Given the description of an element on the screen output the (x, y) to click on. 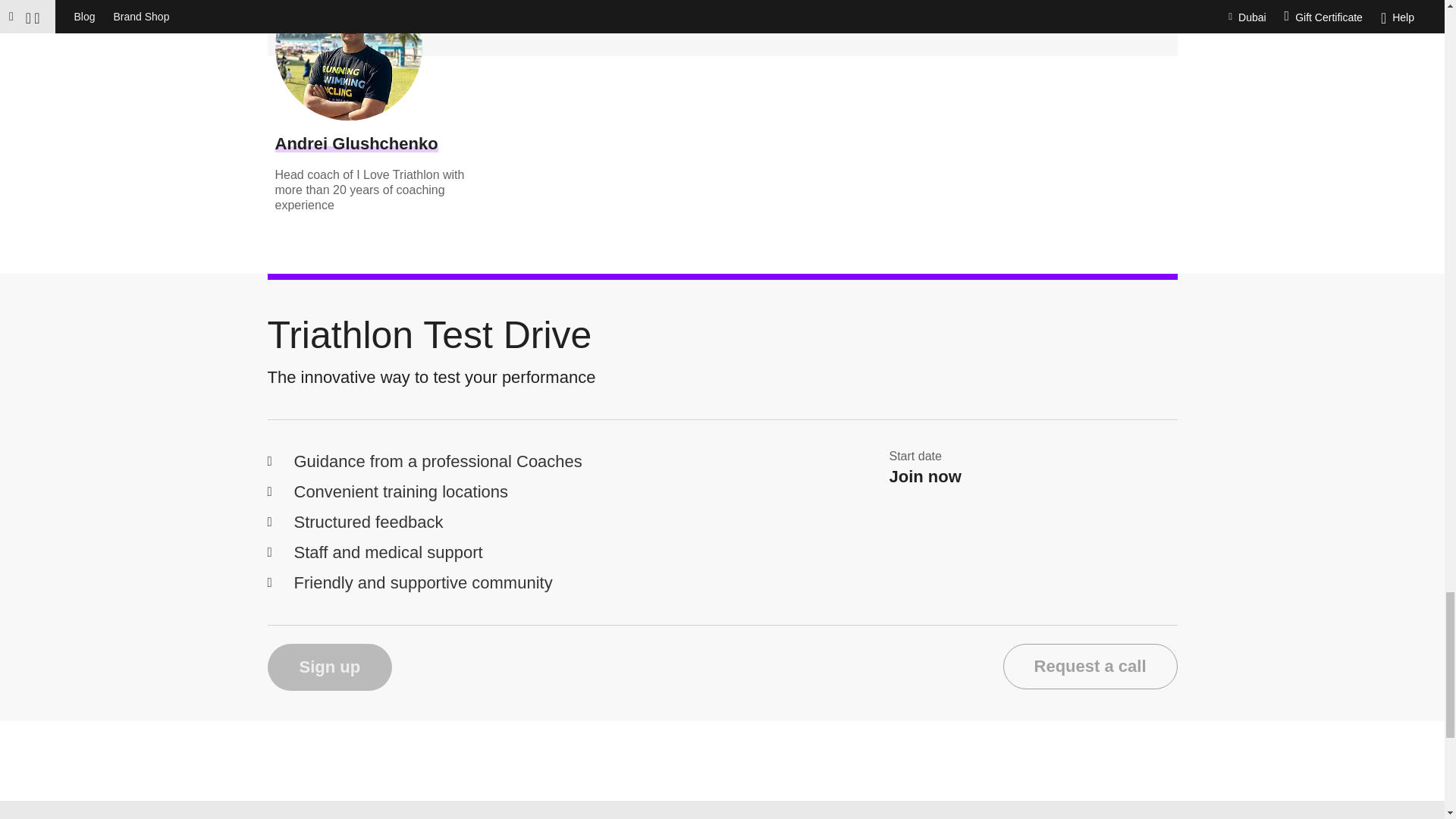
Sign up (328, 667)
Request a call (1090, 666)
